Given the description of an element on the screen output the (x, y) to click on. 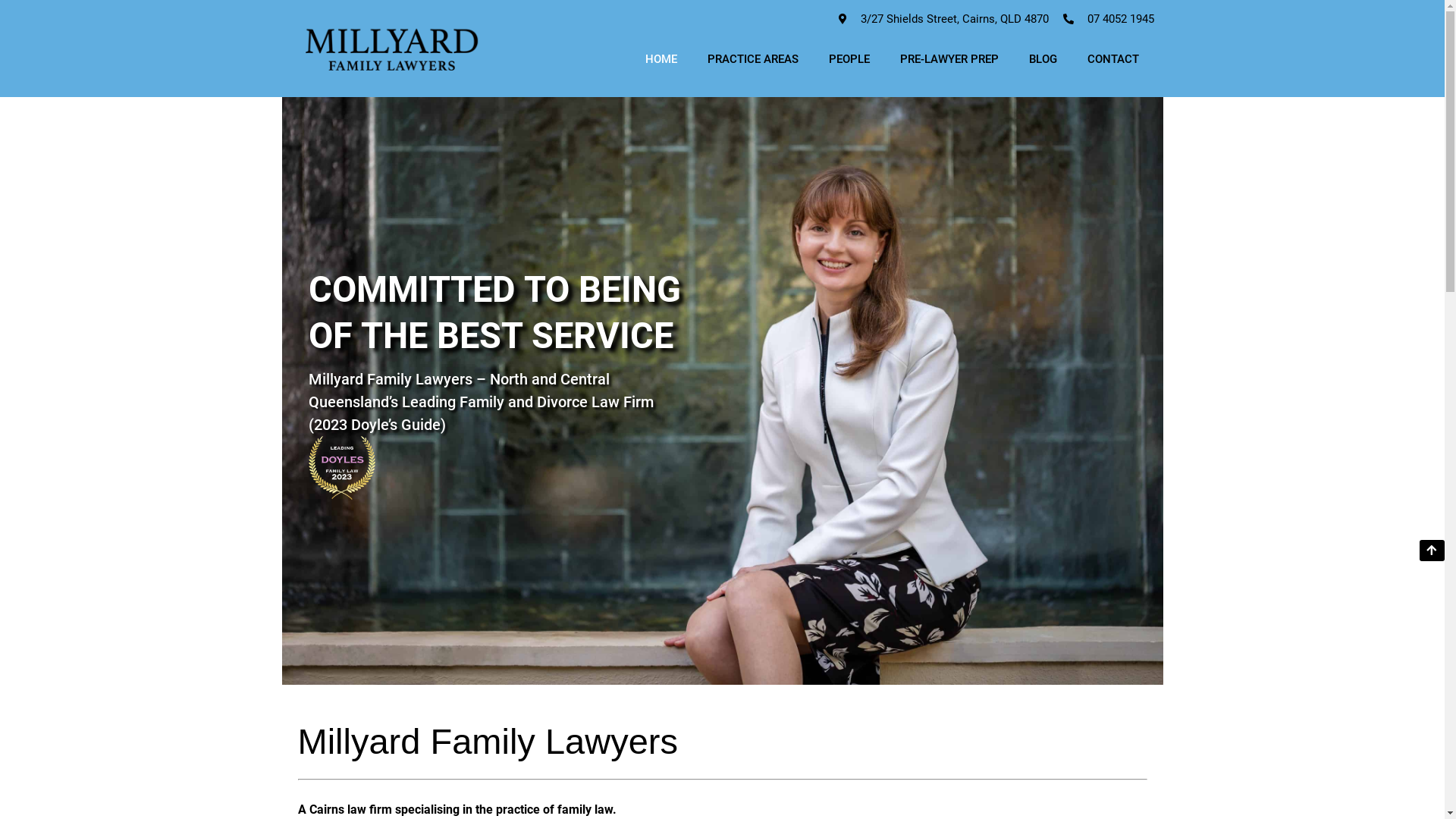
BLOG Element type: text (1042, 59)
PEOPLE Element type: text (848, 59)
PRE-LAWYER PREP Element type: text (948, 59)
CONTACT Element type: text (1113, 59)
PRACTICE AREAS Element type: text (752, 59)
HOME Element type: text (661, 59)
3/27 Shields Street, Cairns, QLD 4870 Element type: text (940, 19)
07 4052 1945 Element type: text (1107, 19)
